Given the description of an element on the screen output the (x, y) to click on. 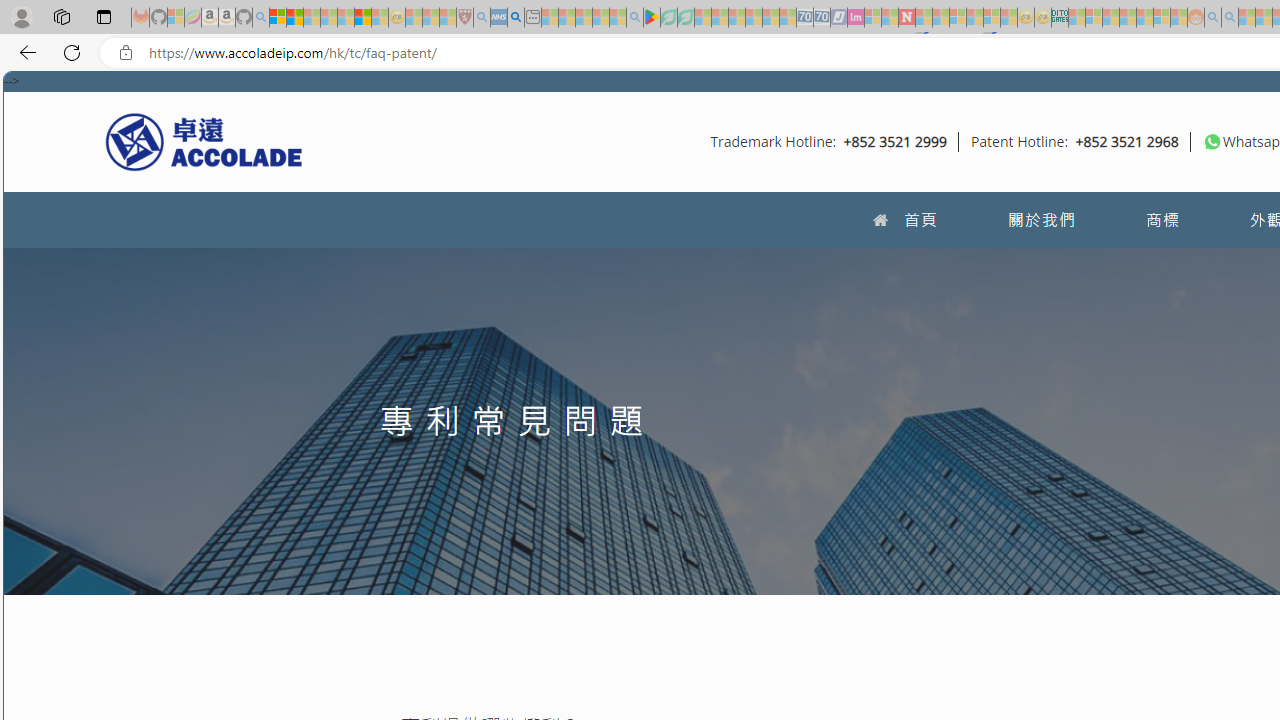
utah sues federal government - Search (515, 17)
